Given the description of an element on the screen output the (x, y) to click on. 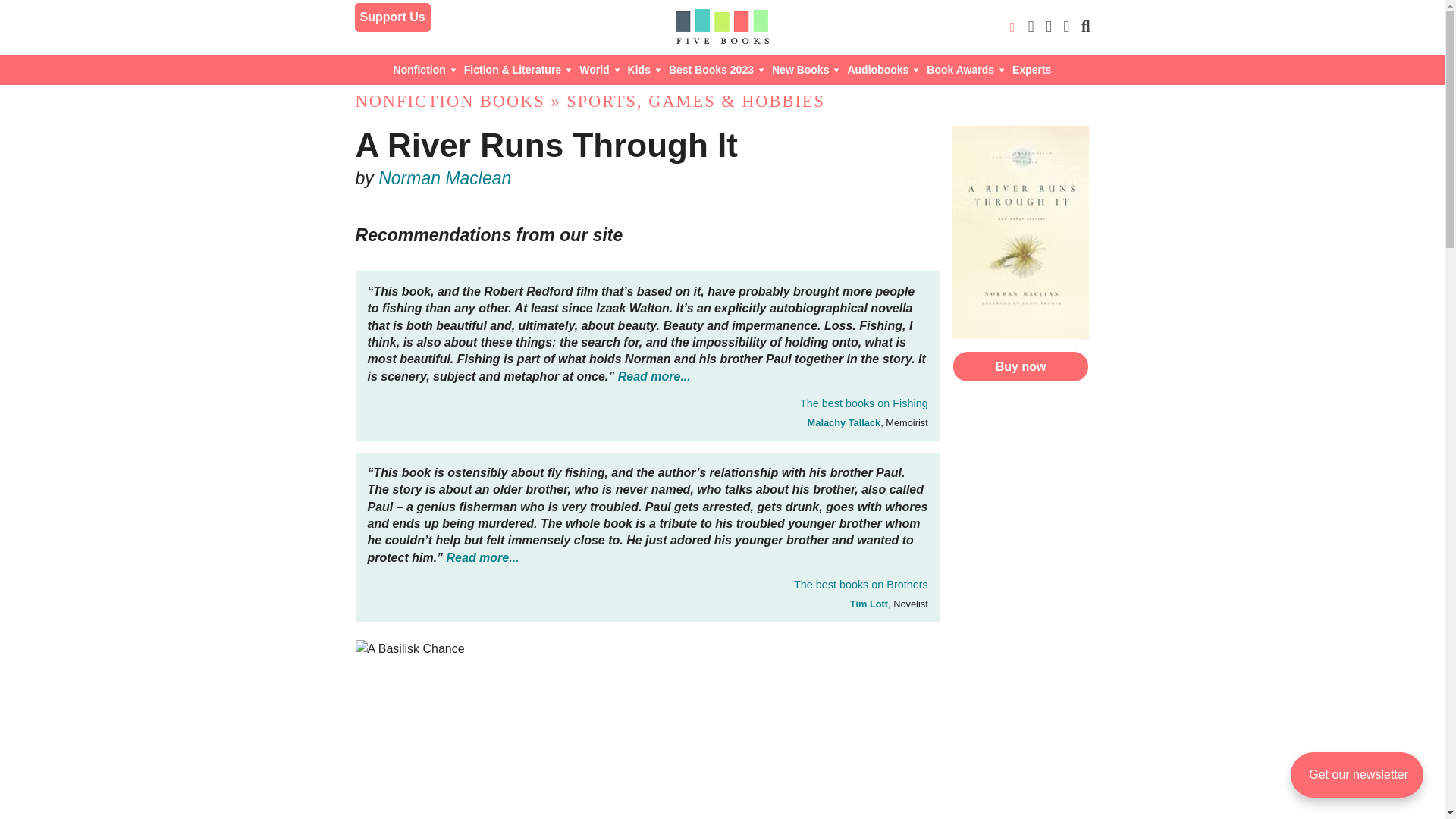
Support Us (392, 17)
Nonfiction (425, 69)
A Basilisk Chance (647, 729)
